Given the description of an element on the screen output the (x, y) to click on. 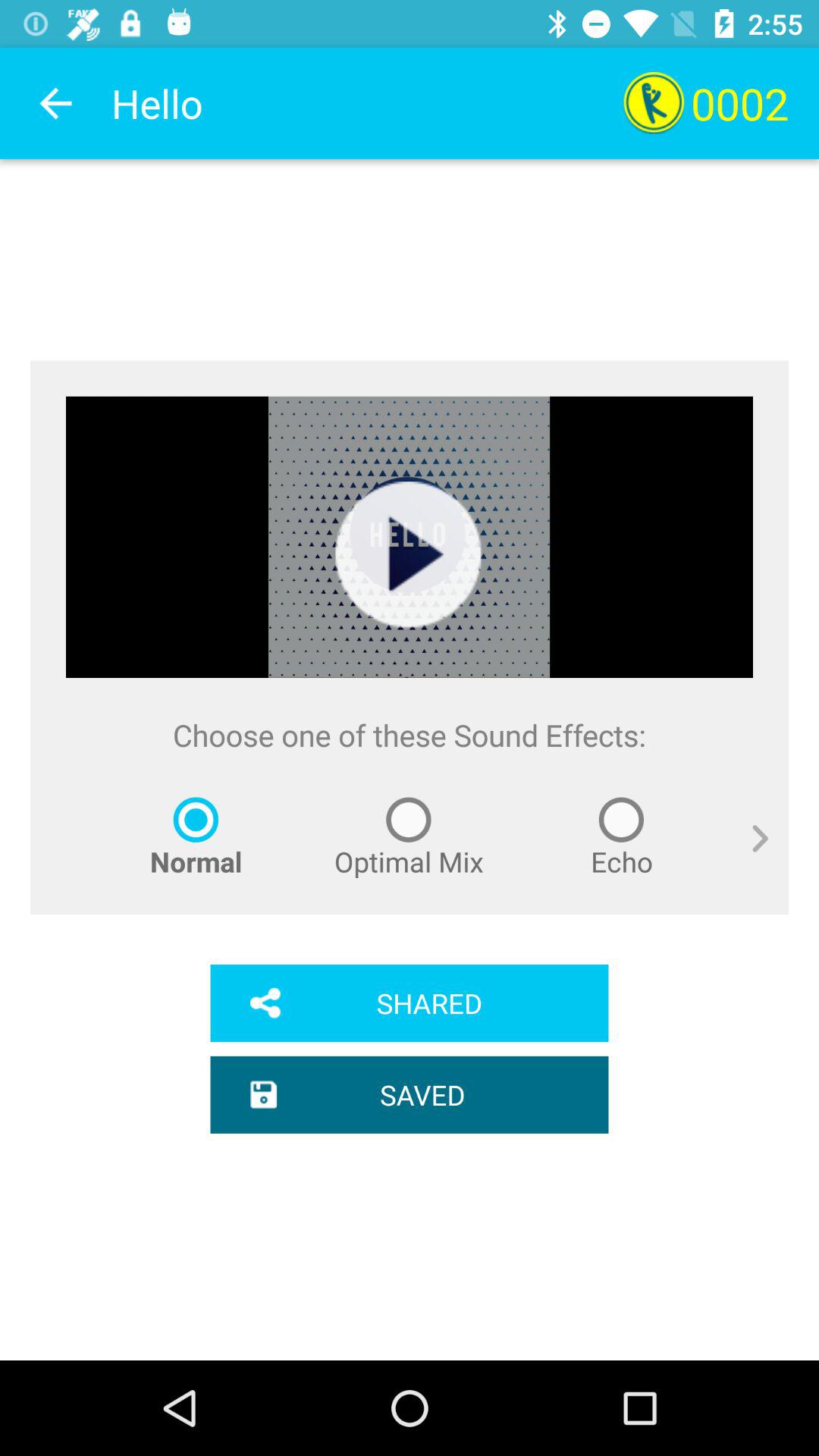
press app to the left of the hello (55, 103)
